Given the description of an element on the screen output the (x, y) to click on. 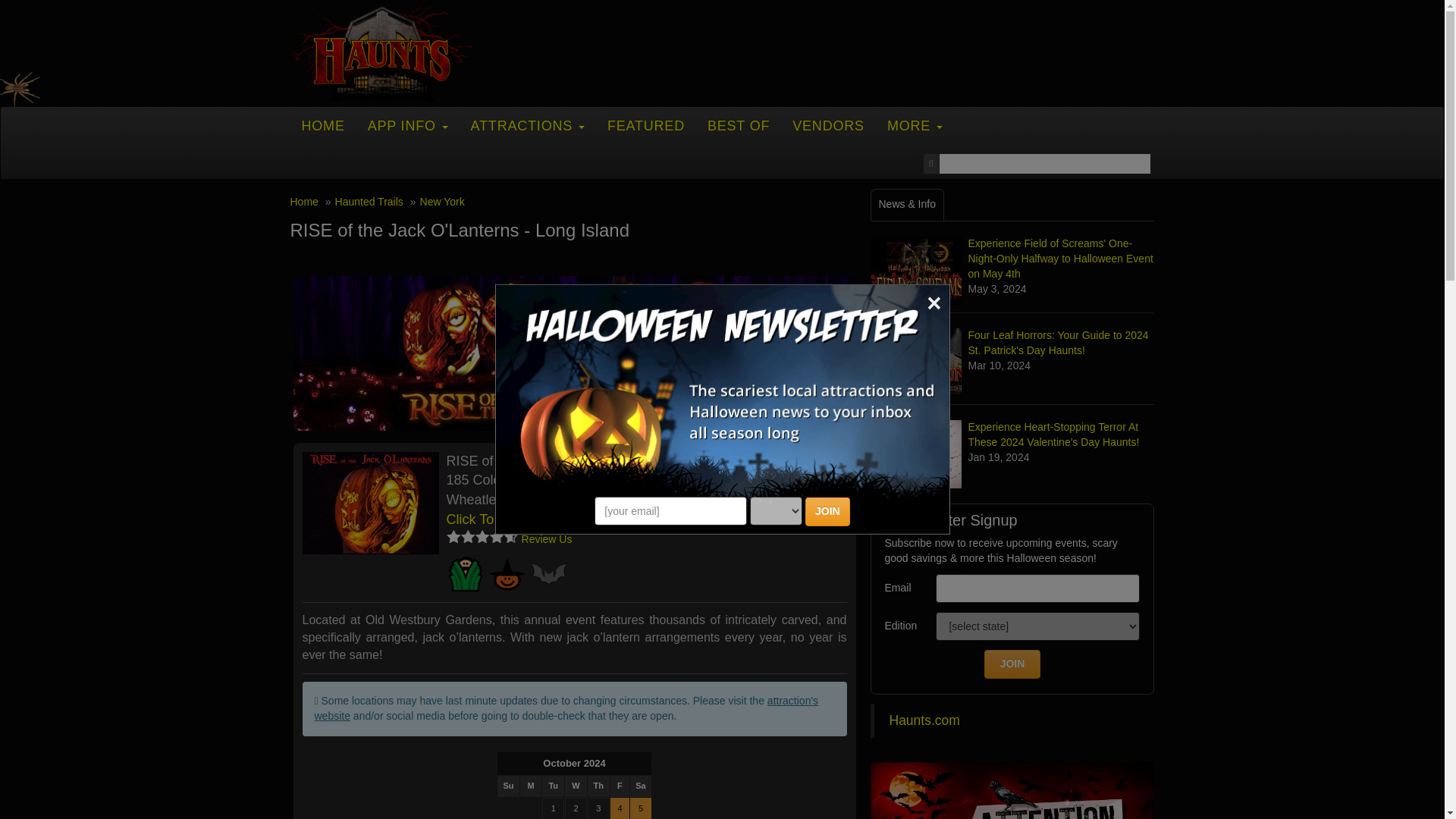
HOME (322, 125)
JOIN (827, 511)
ATTRACTIONS (527, 125)
APP INFO (408, 125)
FEATURED (645, 125)
Other Events (548, 573)
Haunted Trails (464, 573)
VENDORS (828, 125)
MORE (914, 125)
BEST OF (737, 125)
